Given the description of an element on the screen output the (x, y) to click on. 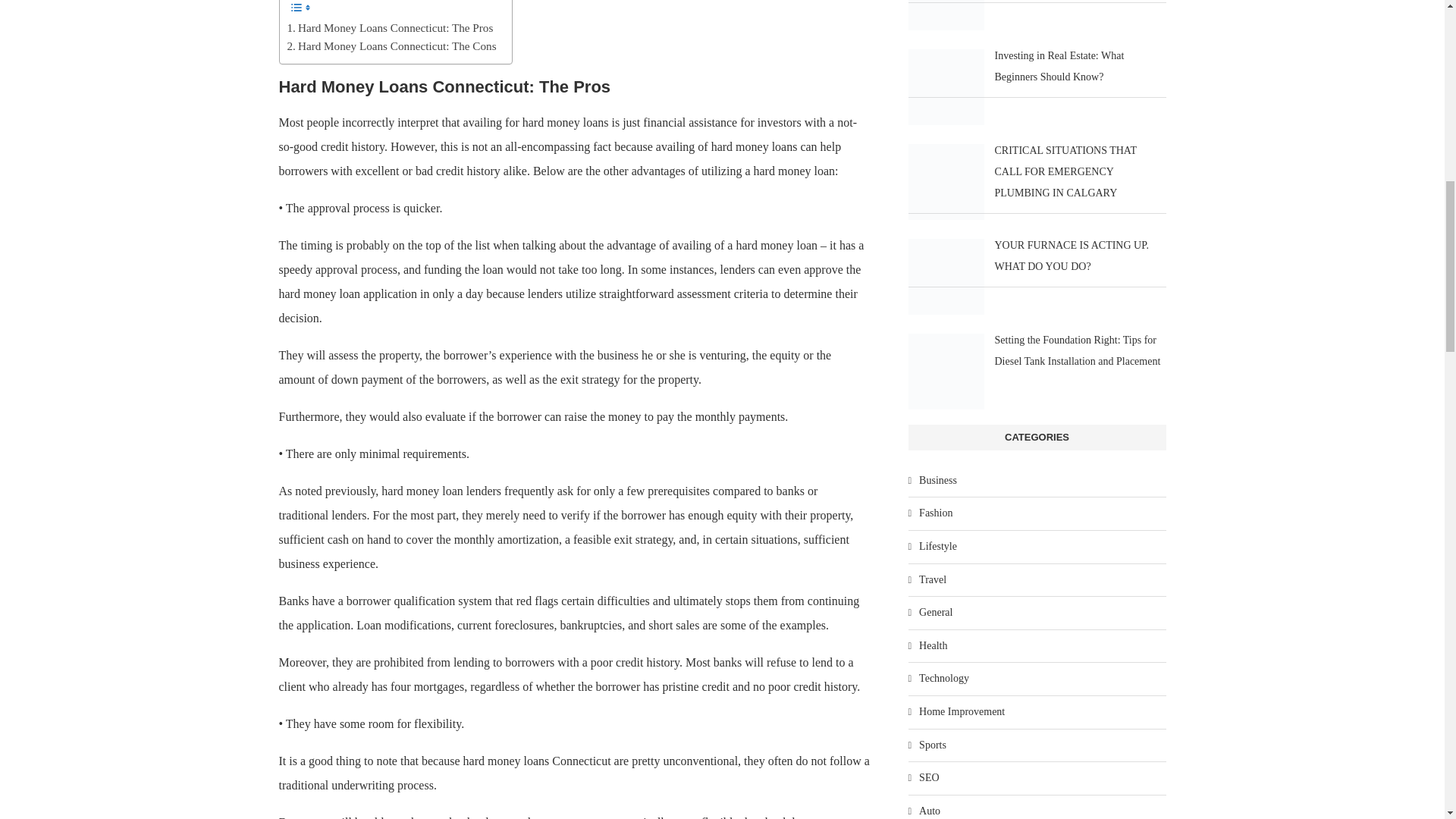
Hard Money Loans Connecticut: The Cons (391, 45)
Hard Money Loans Connecticut: The Pros (389, 27)
Hard Money Loans Connecticut: The Pros (389, 27)
Hard Money Loans Connecticut: The Cons (391, 45)
